Given the description of an element on the screen output the (x, y) to click on. 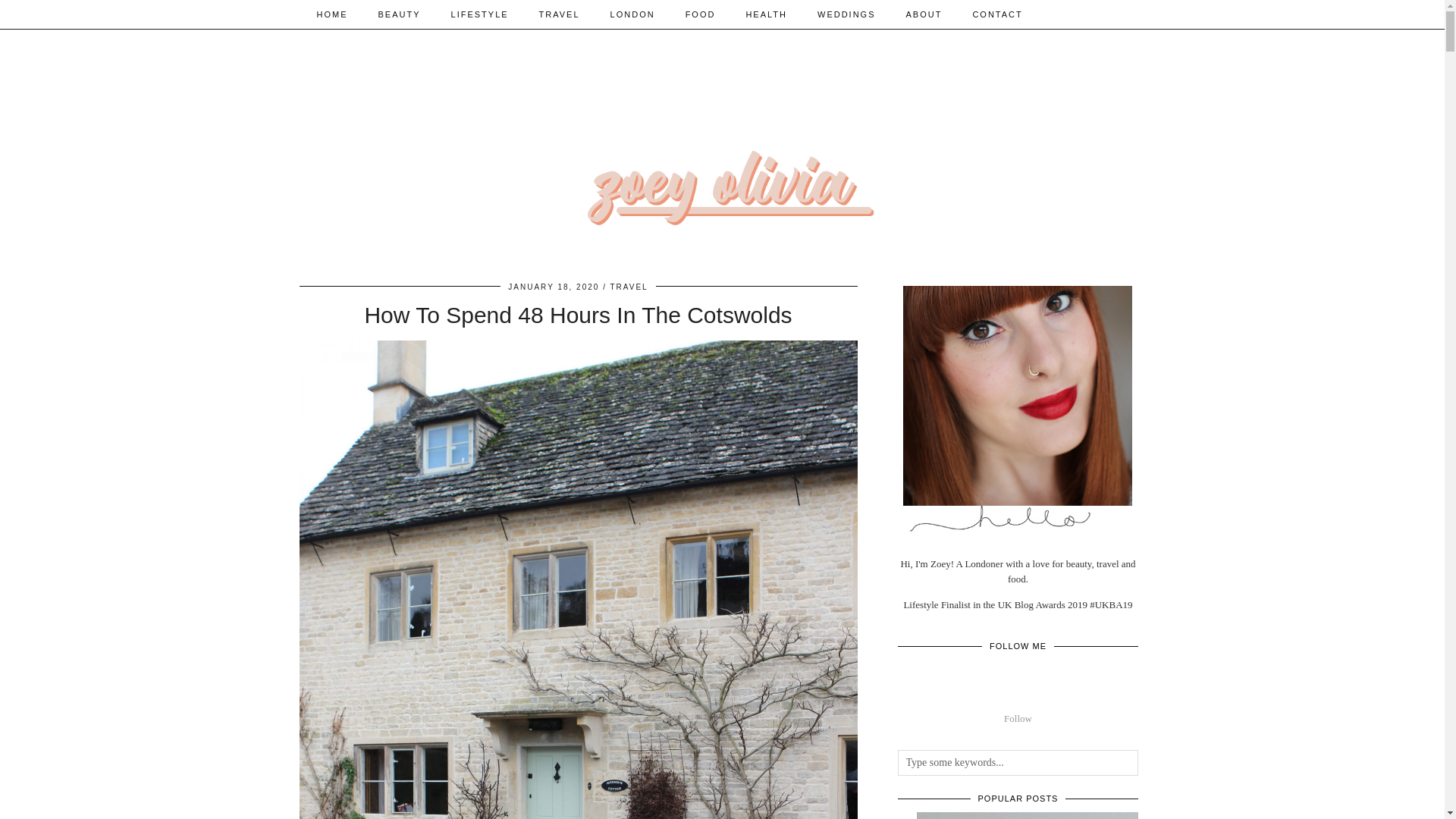
WEDDINGS (846, 14)
CONTACT (996, 14)
FOOD (699, 14)
LONDON (632, 14)
HOME (331, 14)
TRAVEL (559, 14)
HEALTH (766, 14)
ABOUT (924, 14)
LIFESTYLE (479, 14)
BEAUTY (398, 14)
